Given the description of an element on the screen output the (x, y) to click on. 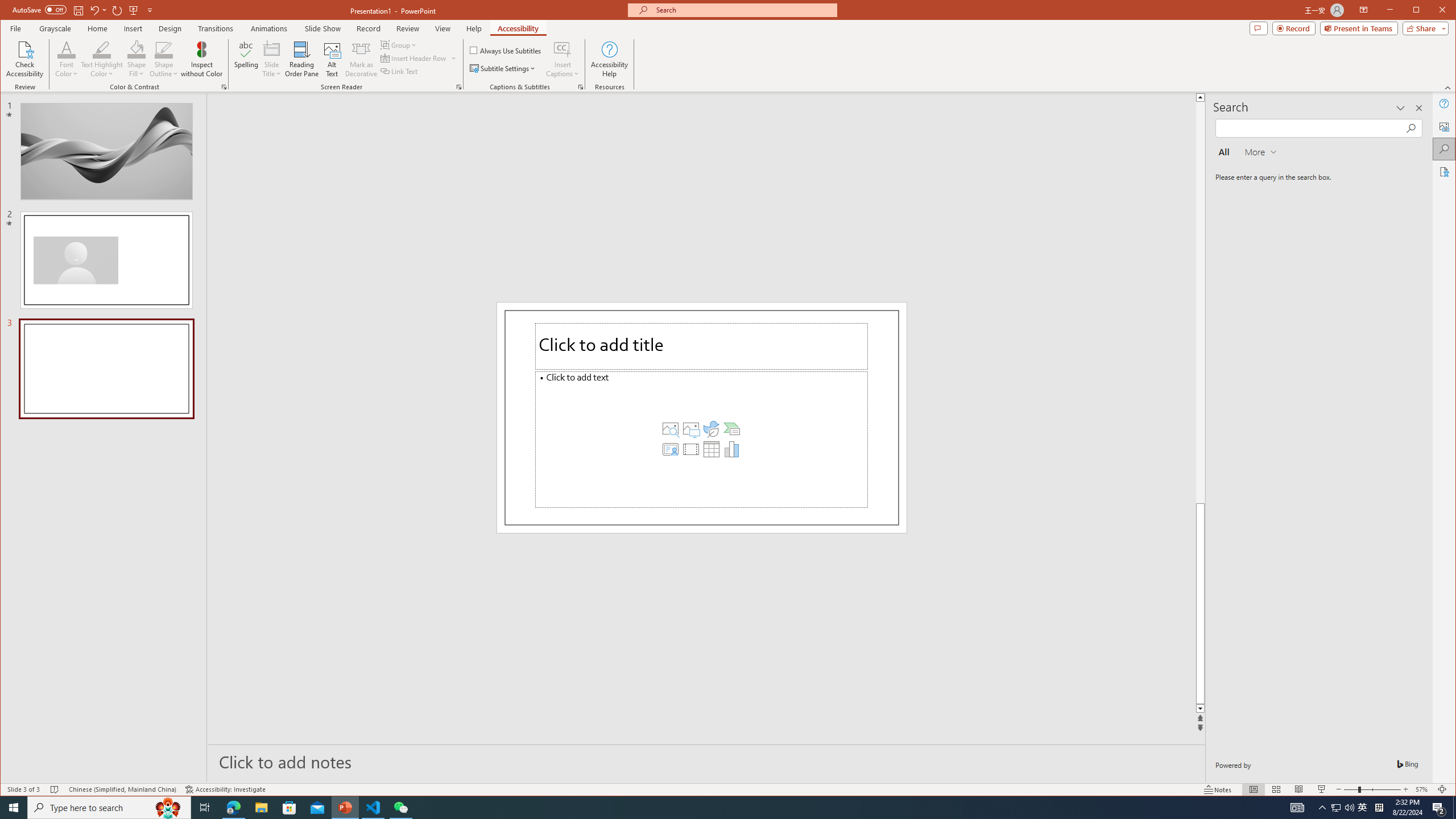
Text Highlight Color (102, 59)
Insert Chart (731, 449)
Insert Header Row (1362, 807)
Insert Captions (418, 57)
Insert Header Row (562, 48)
Action Center, 2 new notifications (413, 57)
WeChat - 1 running window (1439, 807)
Mark as Decorative (400, 807)
Captions & Subtitles (360, 59)
